Given the description of an element on the screen output the (x, y) to click on. 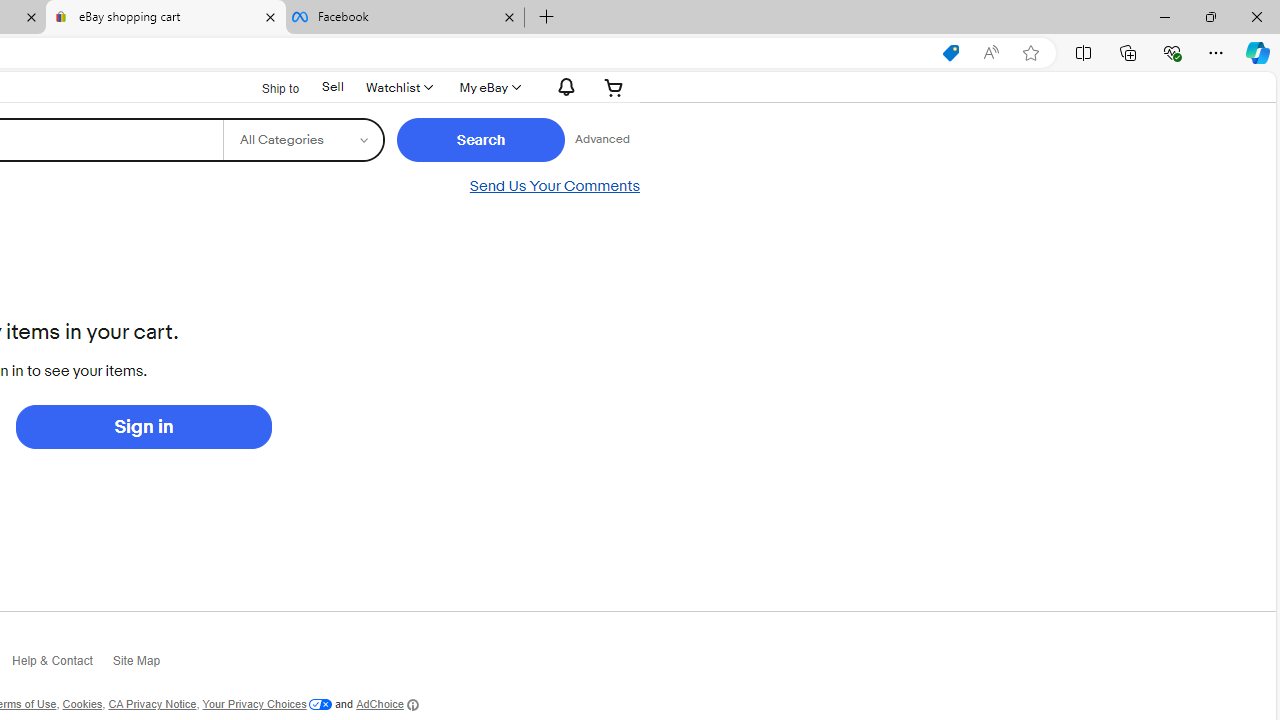
Help & Contact (61, 665)
CA Privacy Notice (152, 704)
Help & Contact (61, 664)
Ship to (267, 85)
eBay shopping cart (166, 17)
Watchlist (398, 87)
Facebook (404, 17)
Advanced Search (602, 139)
My eBay (488, 87)
Sell (332, 86)
